Given the description of an element on the screen output the (x, y) to click on. 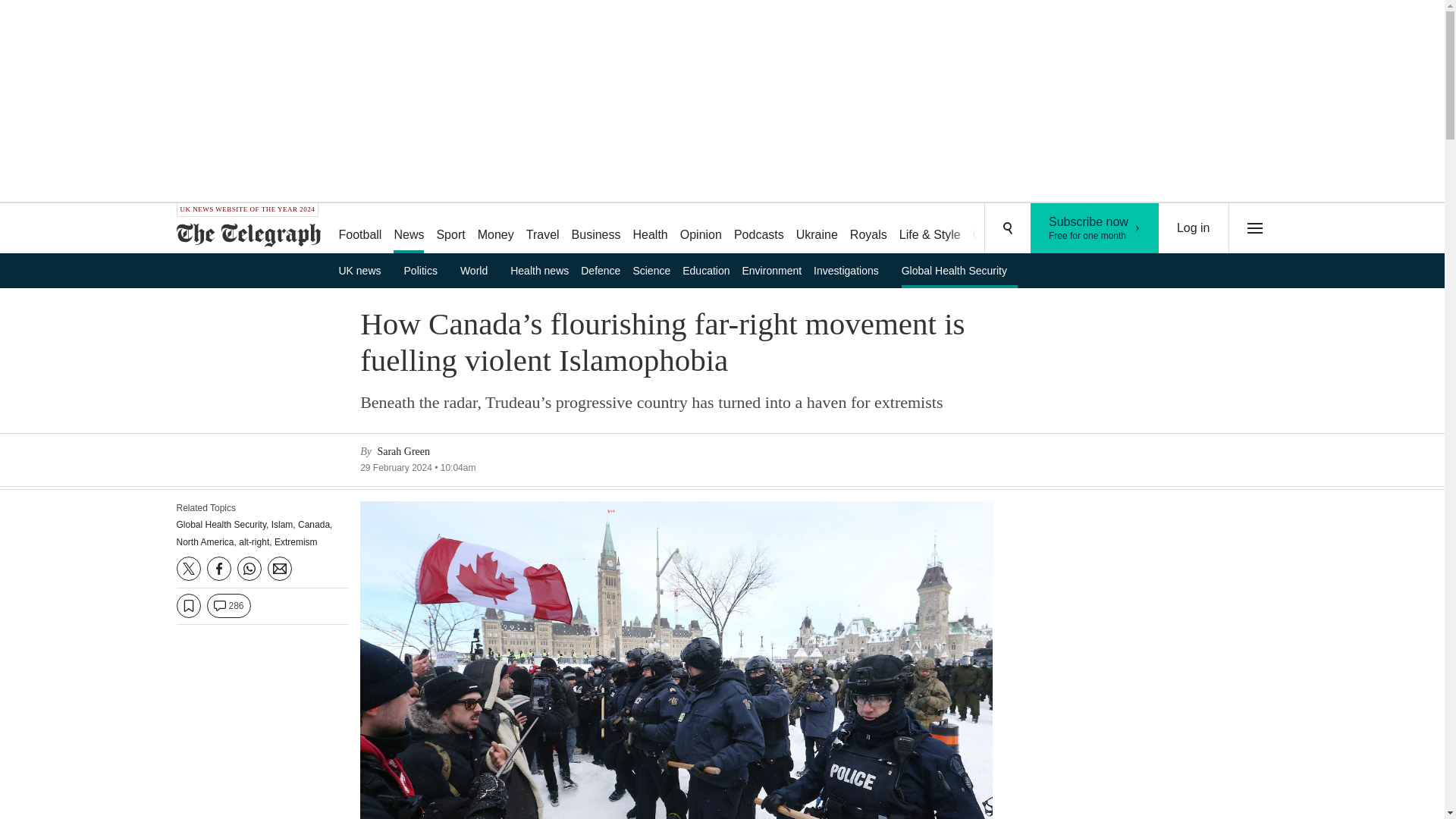
Health (649, 228)
Money (495, 228)
Football (359, 228)
Travel (542, 228)
Culture (991, 228)
Royals (868, 228)
Business (596, 228)
World (478, 270)
Opinion (1094, 228)
Ukraine (701, 228)
UK news (817, 228)
Puzzles (364, 270)
Log in (1044, 228)
Podcasts (1193, 228)
